Given the description of an element on the screen output the (x, y) to click on. 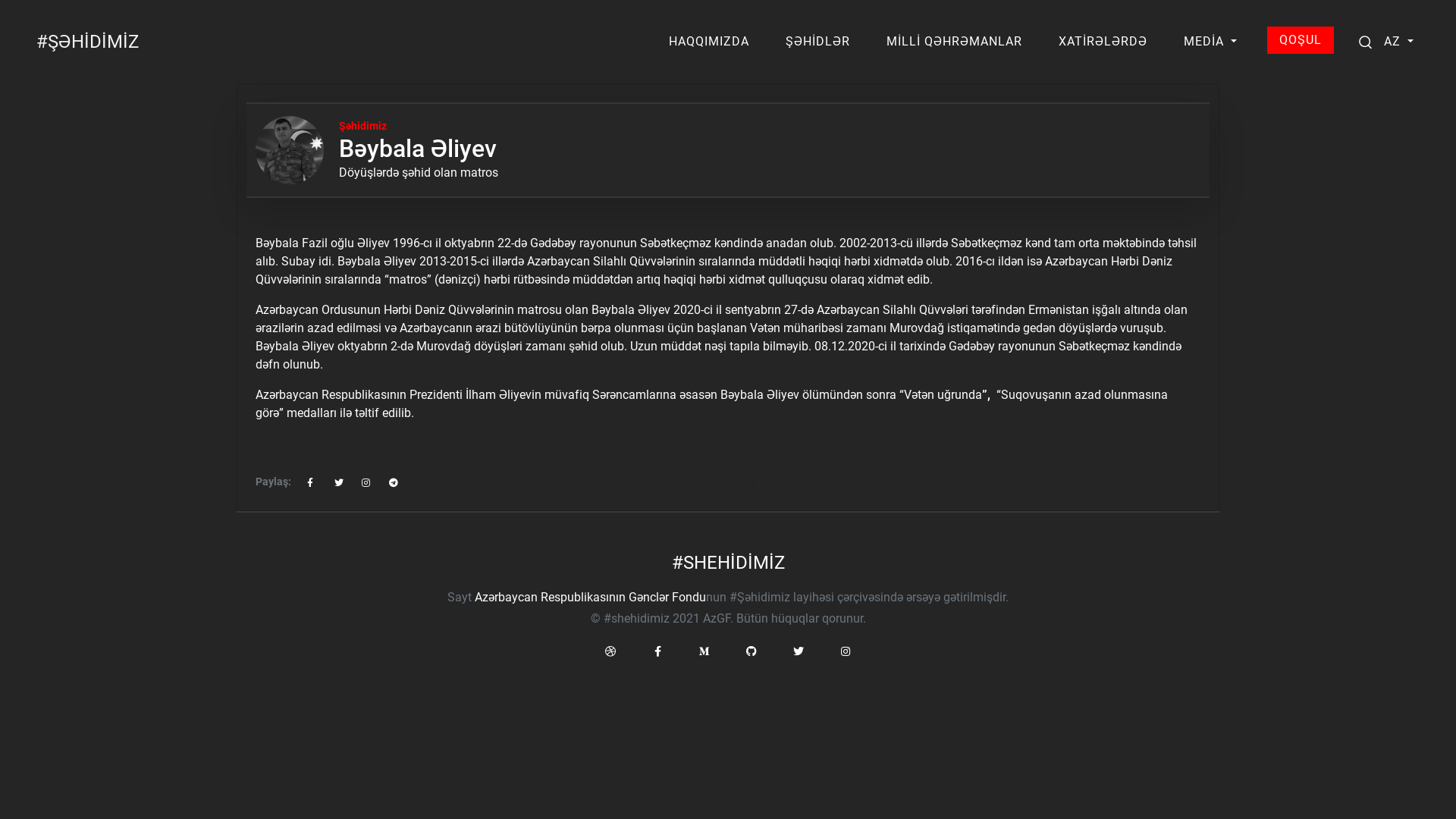
HAQQIMIZDA Element type: text (708, 41)
AZ Element type: text (1398, 41)
